Given the description of an element on the screen output the (x, y) to click on. 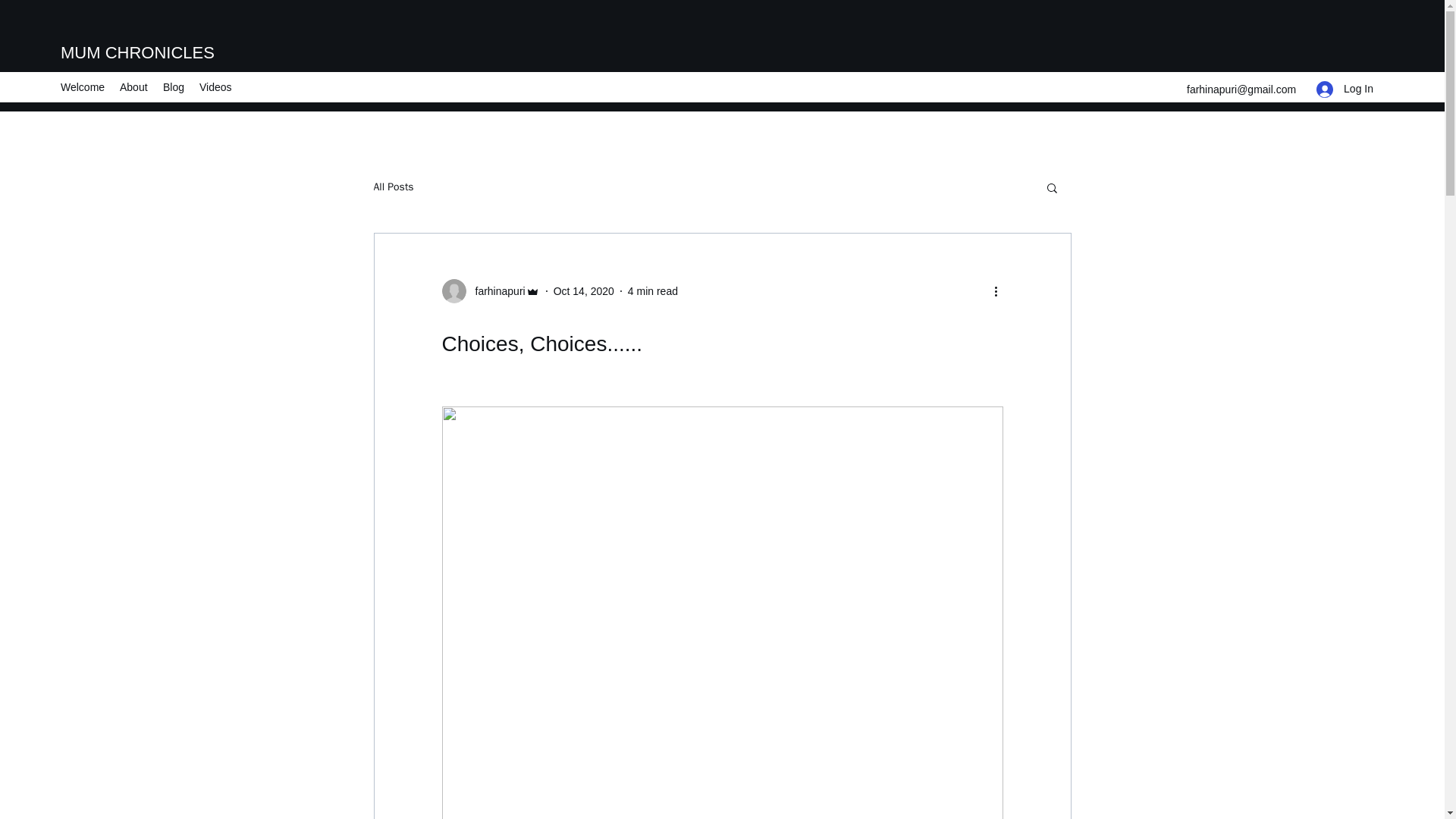
All Posts (392, 187)
Oct 14, 2020 (583, 291)
Videos (216, 87)
farhinapuri (494, 291)
Blog (173, 87)
farhinapuri (489, 291)
Log In (1345, 89)
About (133, 87)
MUM CHRONICLES (137, 52)
Welcome (82, 87)
4 min read (652, 291)
